Given the description of an element on the screen output the (x, y) to click on. 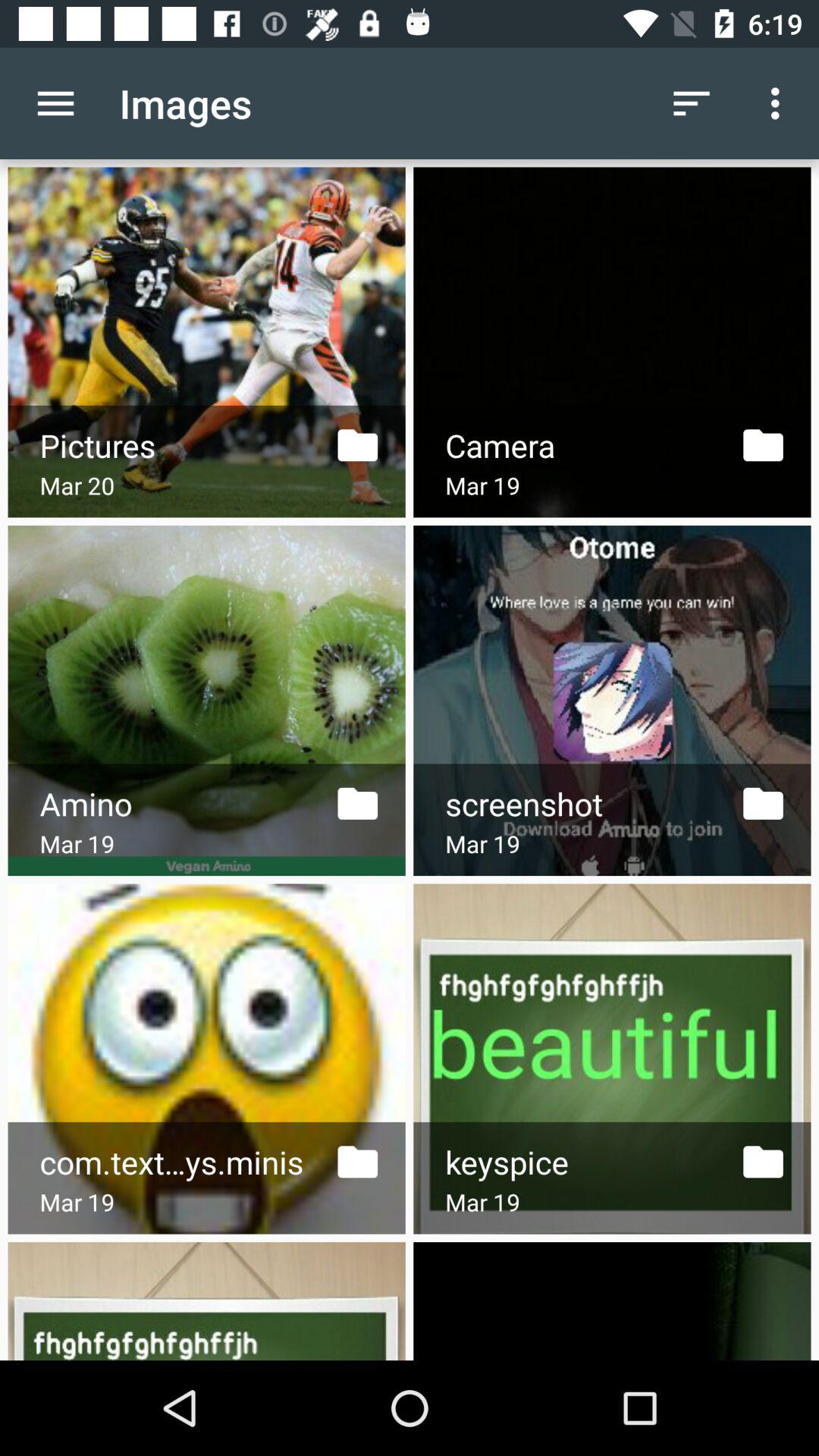
launch the item next to images item (691, 103)
